Given the description of an element on the screen output the (x, y) to click on. 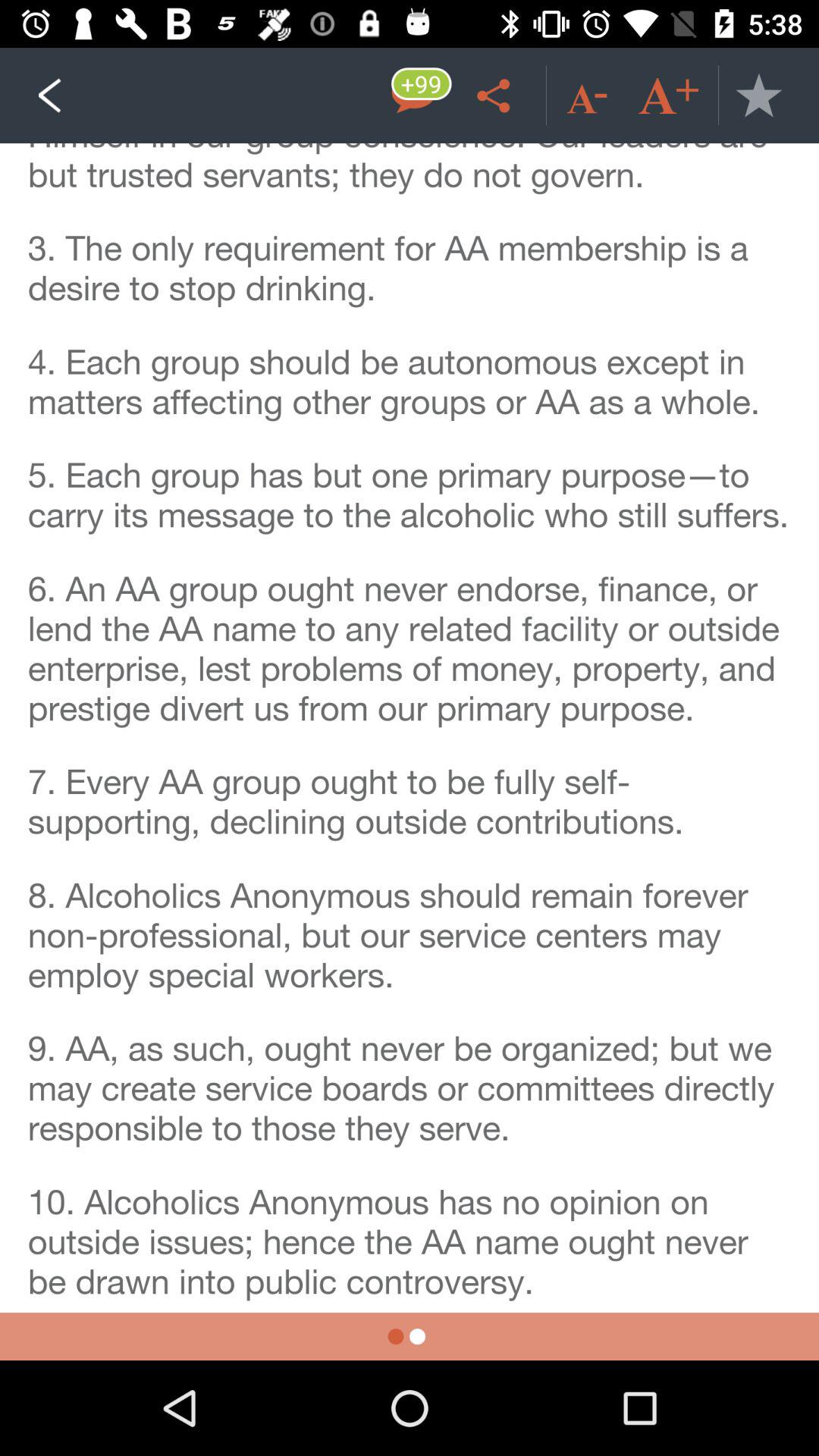
go to share option (495, 95)
